Given the description of an element on the screen output the (x, y) to click on. 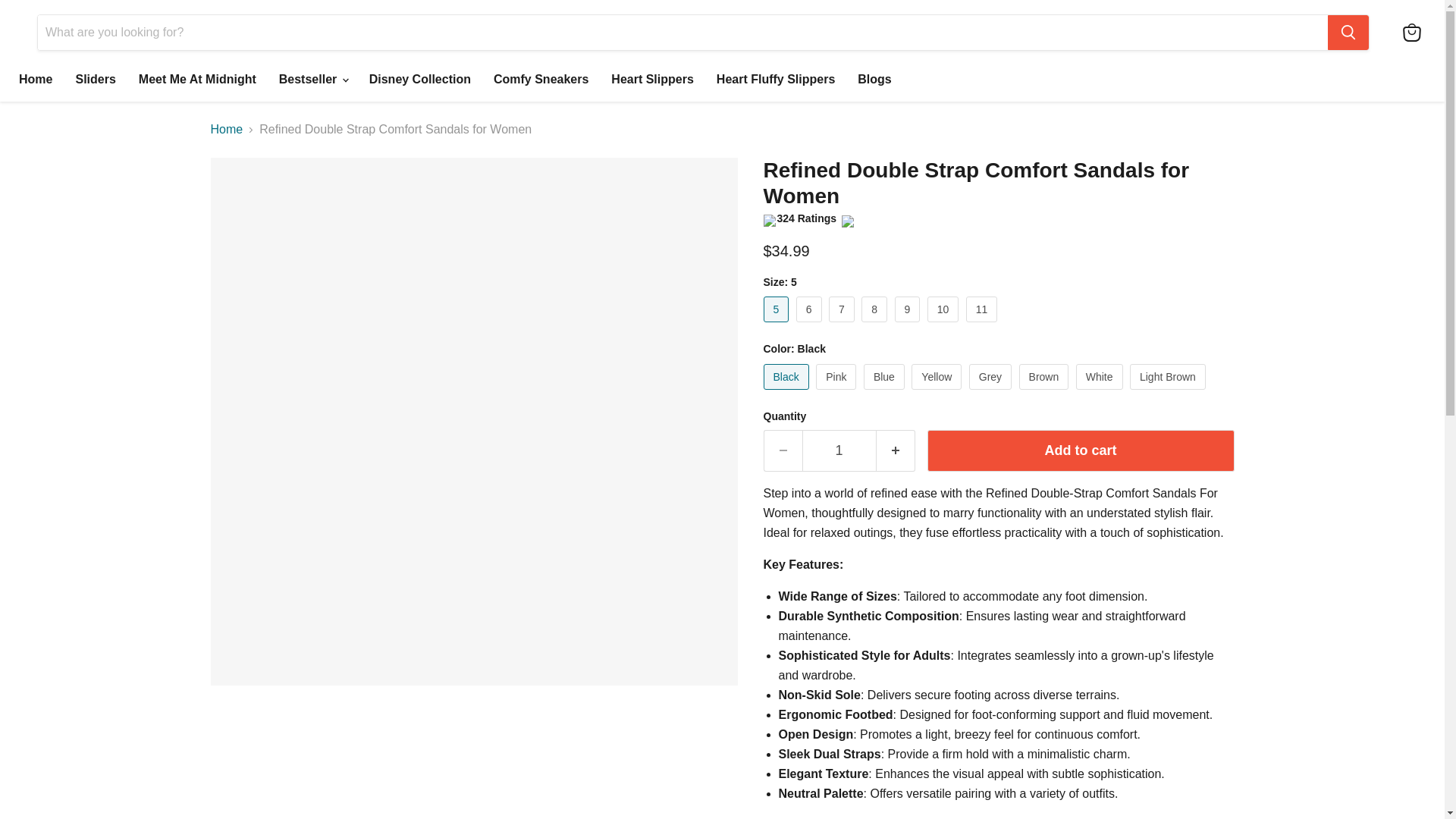
Meet Me At Midnight (197, 79)
Disney Collection (419, 79)
1 (839, 450)
Blogs (873, 79)
Sliders (95, 79)
Heart Slippers (651, 79)
Comfy Sneakers (540, 79)
Home (35, 79)
Heart Fluffy Slippers (774, 79)
View cart (1411, 32)
